Given the description of an element on the screen output the (x, y) to click on. 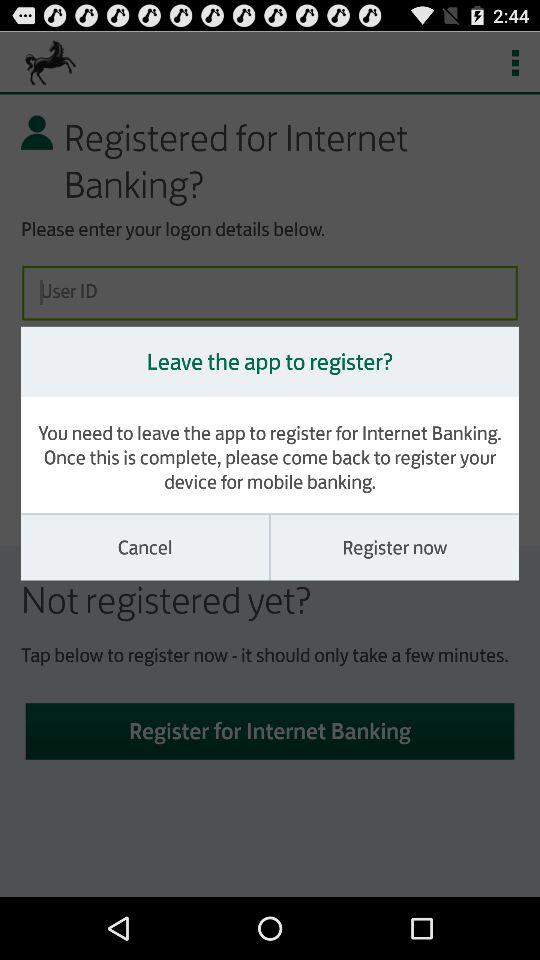
launch cancel (145, 547)
